Given the description of an element on the screen output the (x, y) to click on. 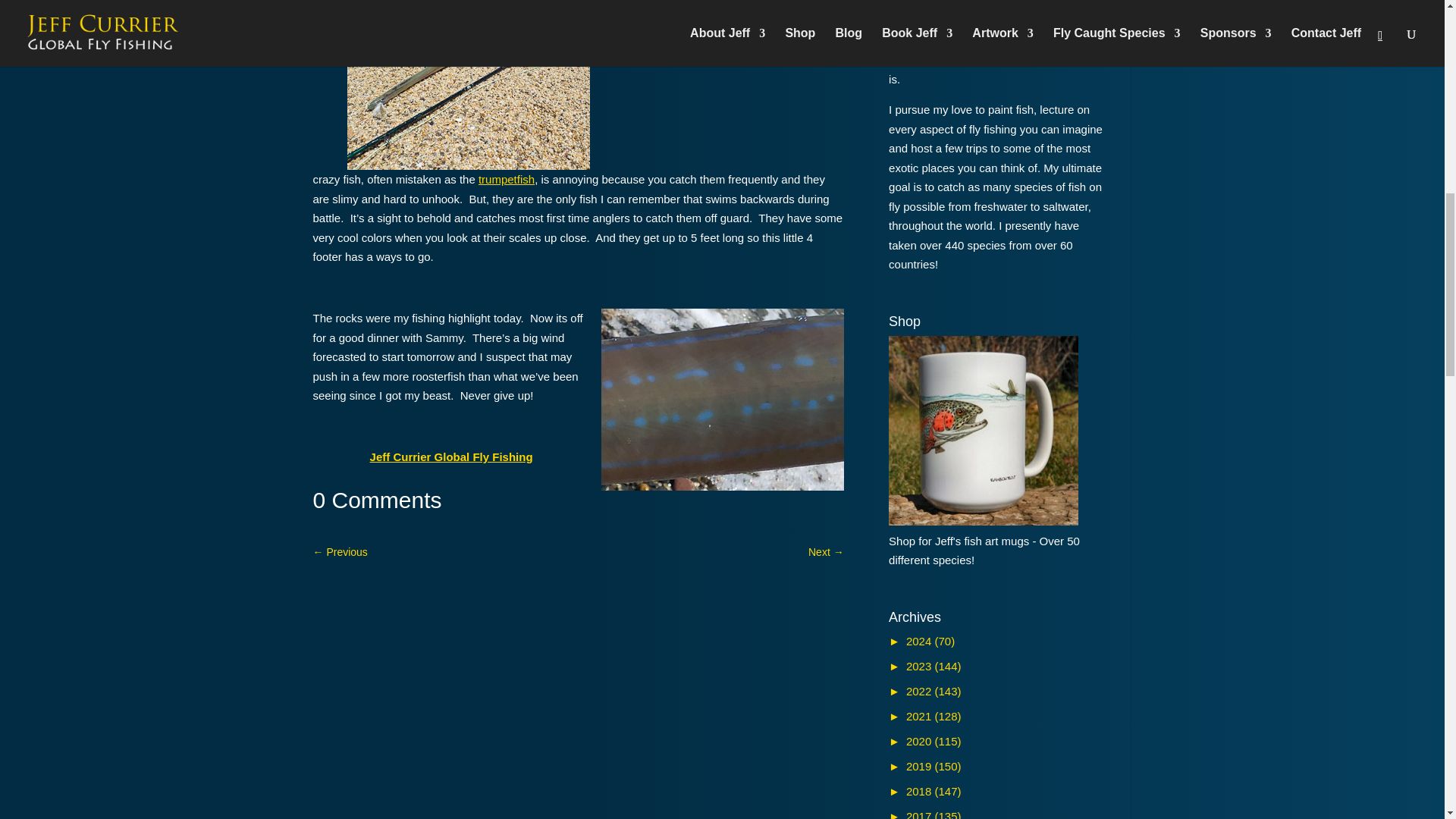
2024 (921, 640)
